Given the description of an element on the screen output the (x, y) to click on. 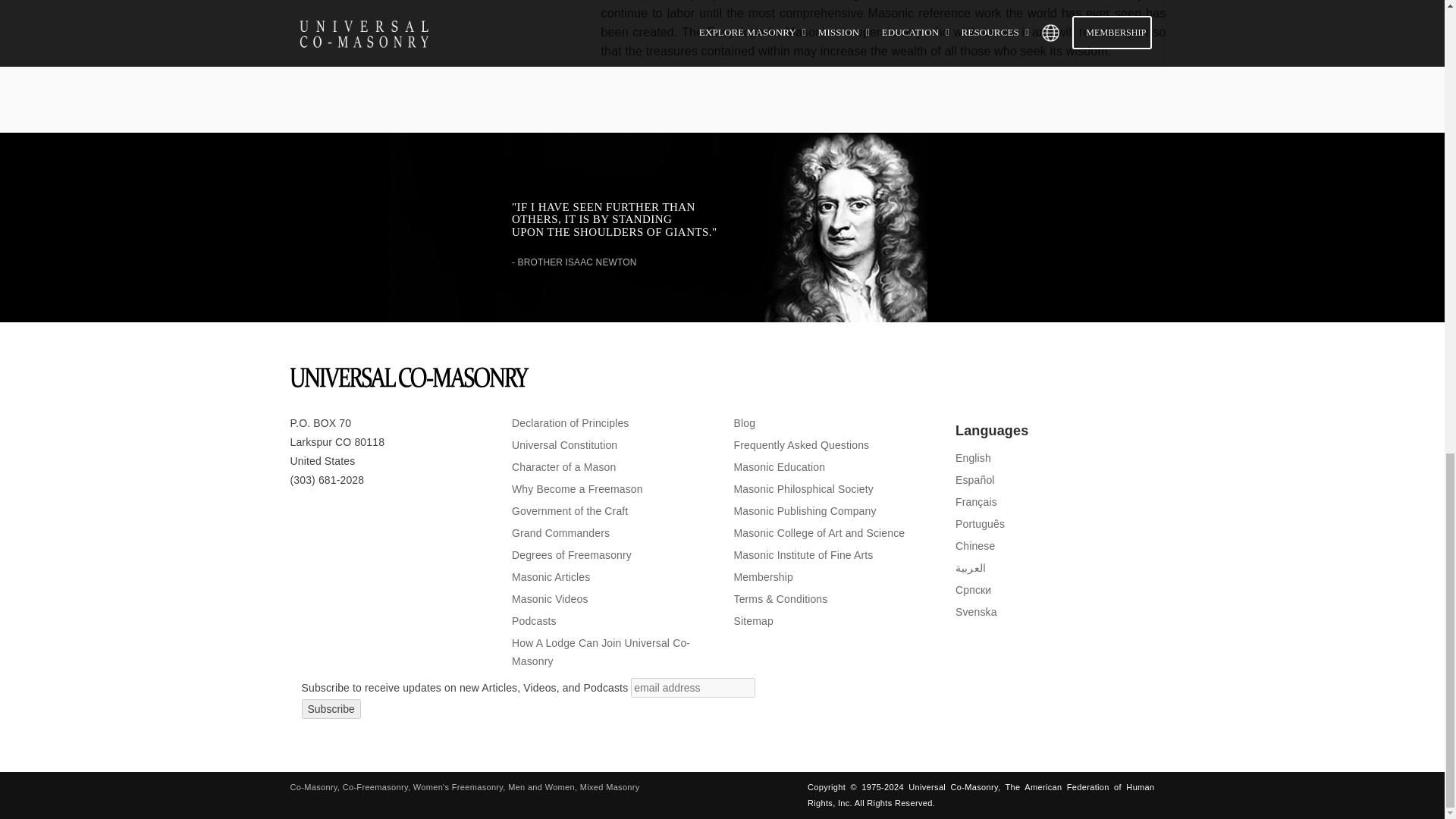
Subscribe (331, 709)
